Given the description of an element on the screen output the (x, y) to click on. 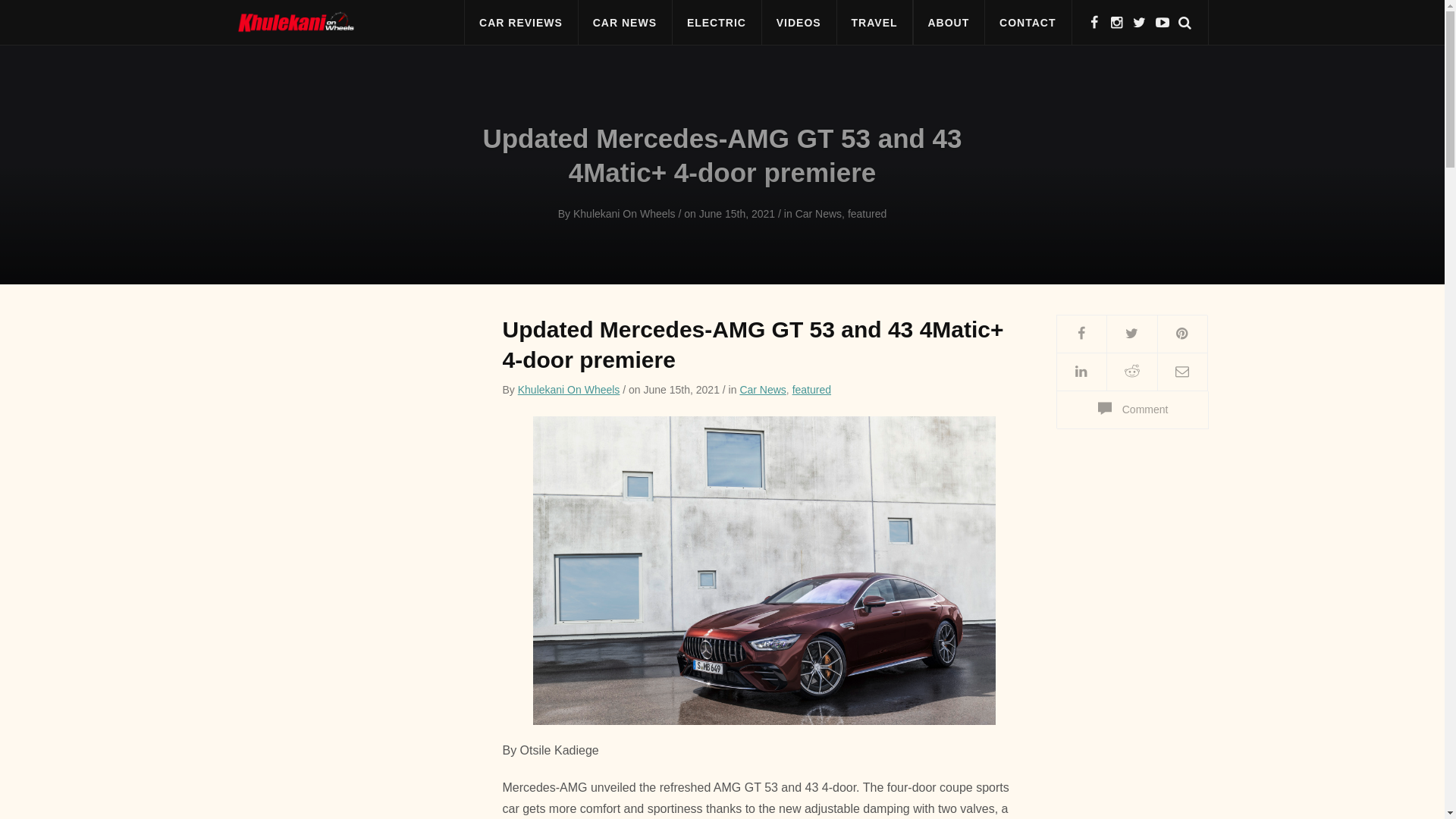
Khulekani On Wheels (624, 214)
TRAVEL (873, 22)
VIDEOS (798, 22)
CONTACT (1027, 22)
ELECTRIC (716, 22)
featured (811, 389)
Car News (762, 389)
featured (866, 214)
Khulekani On Wheels (569, 389)
ABOUT (948, 22)
CAR REVIEWS (521, 22)
Car News (817, 214)
CAR NEWS (624, 22)
Comment (1131, 409)
